Given the description of an element on the screen output the (x, y) to click on. 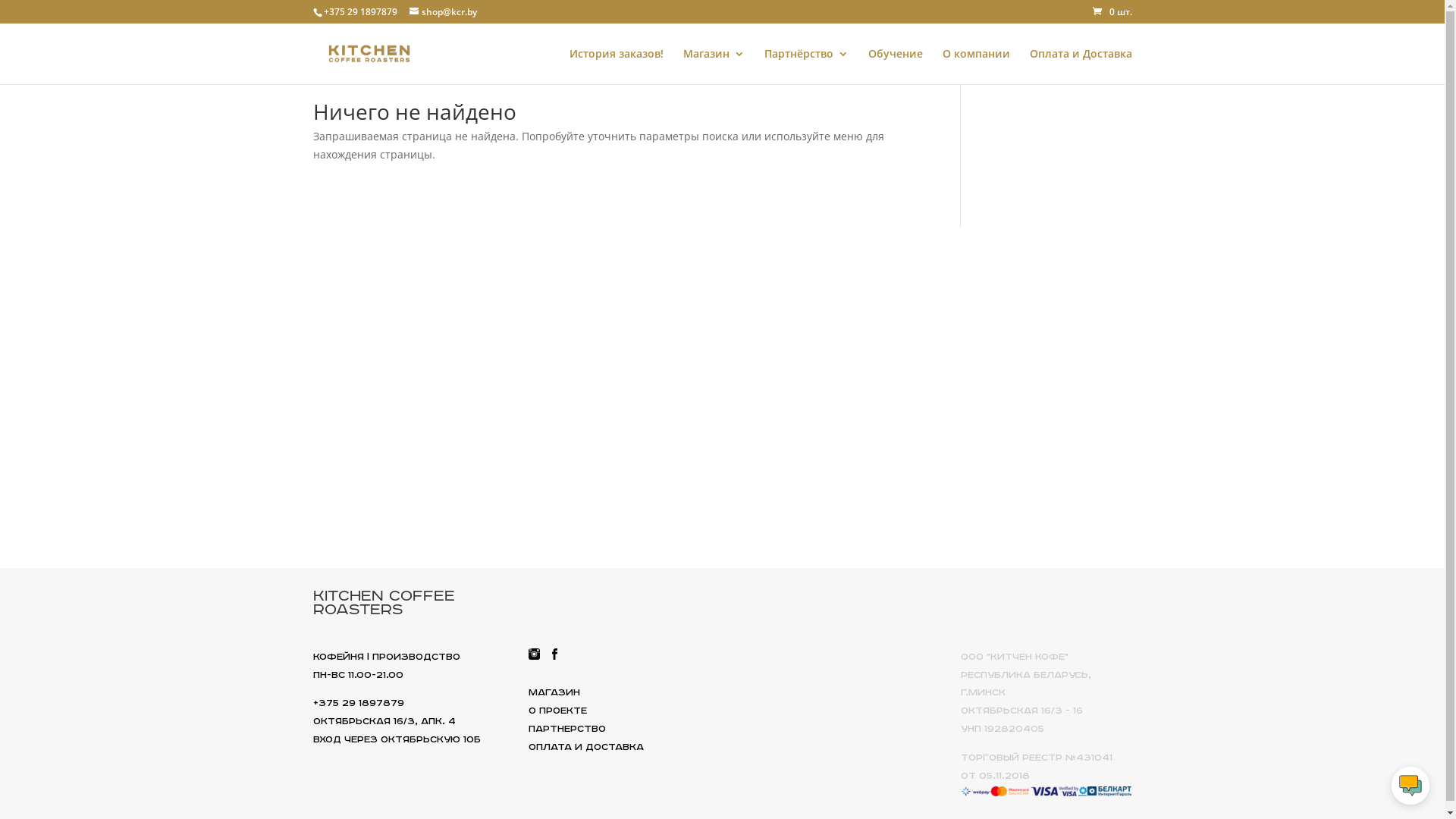
shop@kcr.by Element type: text (442, 11)
+375 29 1897879 Element type: text (357, 703)
+375 29 1897879 Element type: text (359, 11)
